Given the description of an element on the screen output the (x, y) to click on. 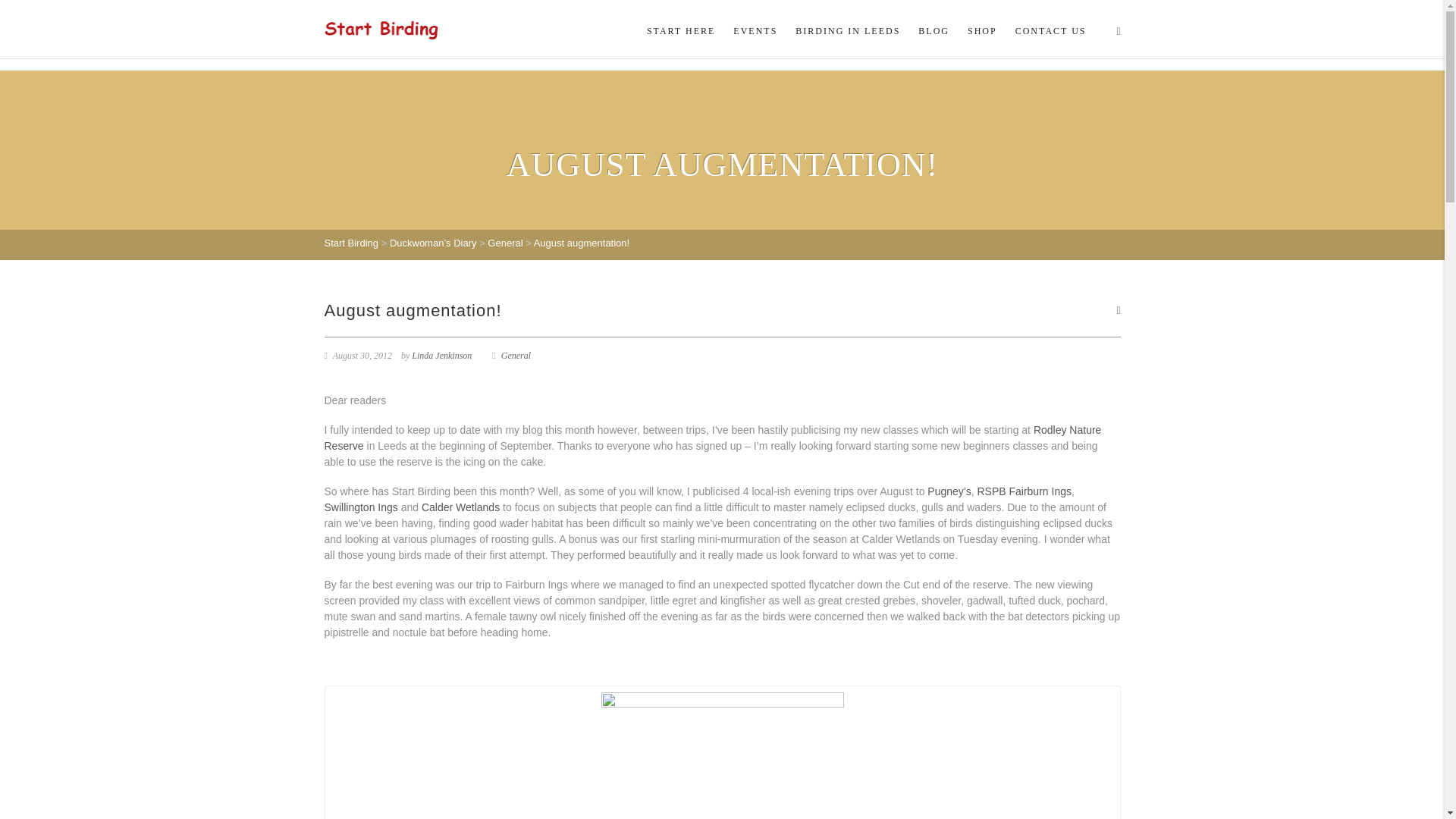
General (504, 242)
BLOG (933, 31)
Calder Wetlands (460, 507)
RSPB Fairburn Ings (1023, 491)
BIRDING IN LEEDS (847, 31)
START HERE (680, 31)
CONTACT US (1046, 31)
Rodley Nature Reserve (713, 438)
Start Birding (351, 242)
Linda Jenkinson (441, 355)
Start Birding (381, 29)
EVENTS (754, 31)
Swillington Ings (360, 507)
General (515, 355)
Go to the General Category archives. (504, 242)
